Given the description of an element on the screen output the (x, y) to click on. 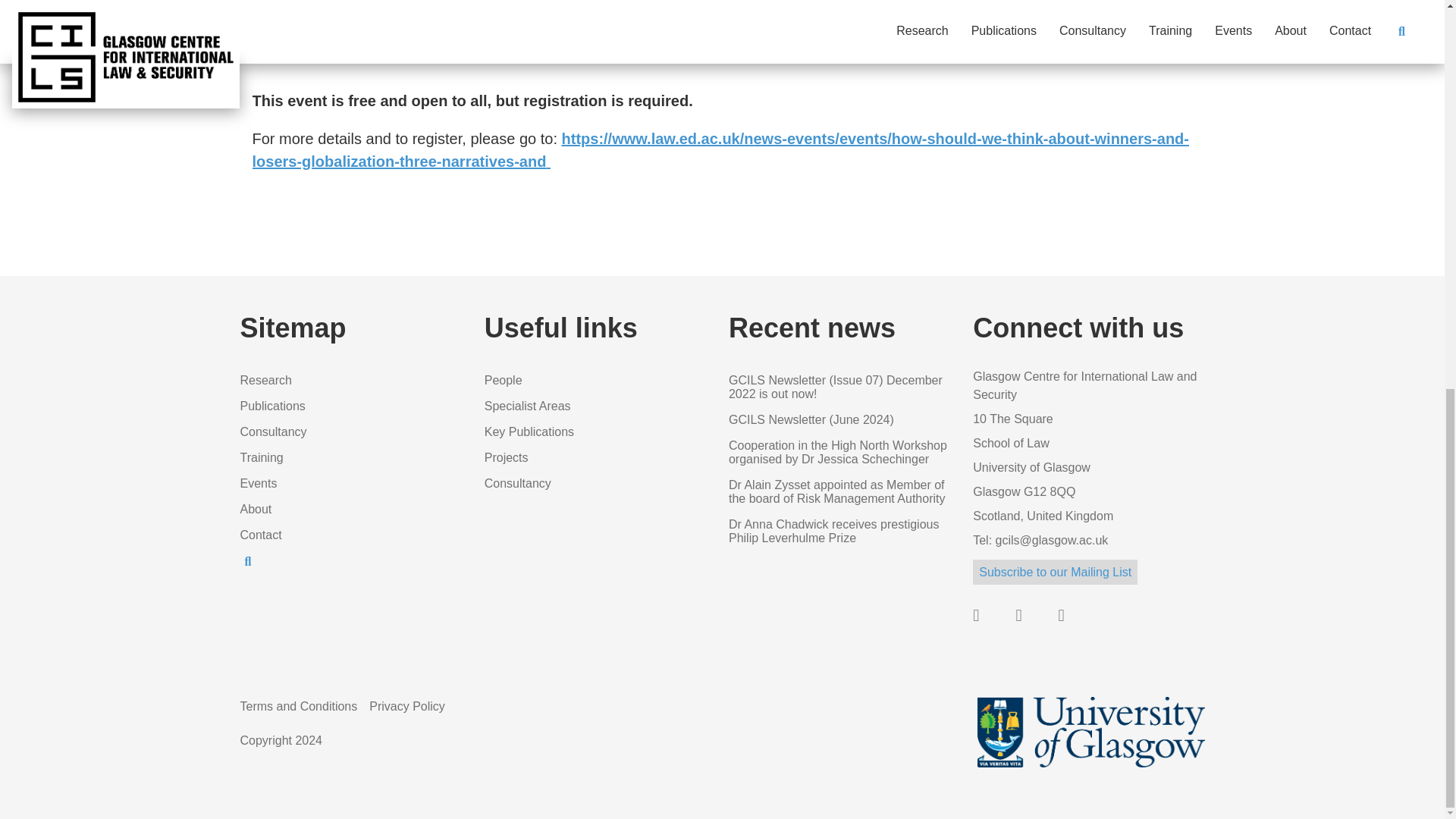
Specialist Areas (527, 405)
Consultancy (517, 482)
Research (265, 379)
Events (258, 482)
Consultancy (272, 431)
About (255, 508)
People (503, 379)
Publications (272, 405)
Key Publications (528, 431)
Projects (506, 457)
Contact (260, 534)
Training (261, 457)
